Given the description of an element on the screen output the (x, y) to click on. 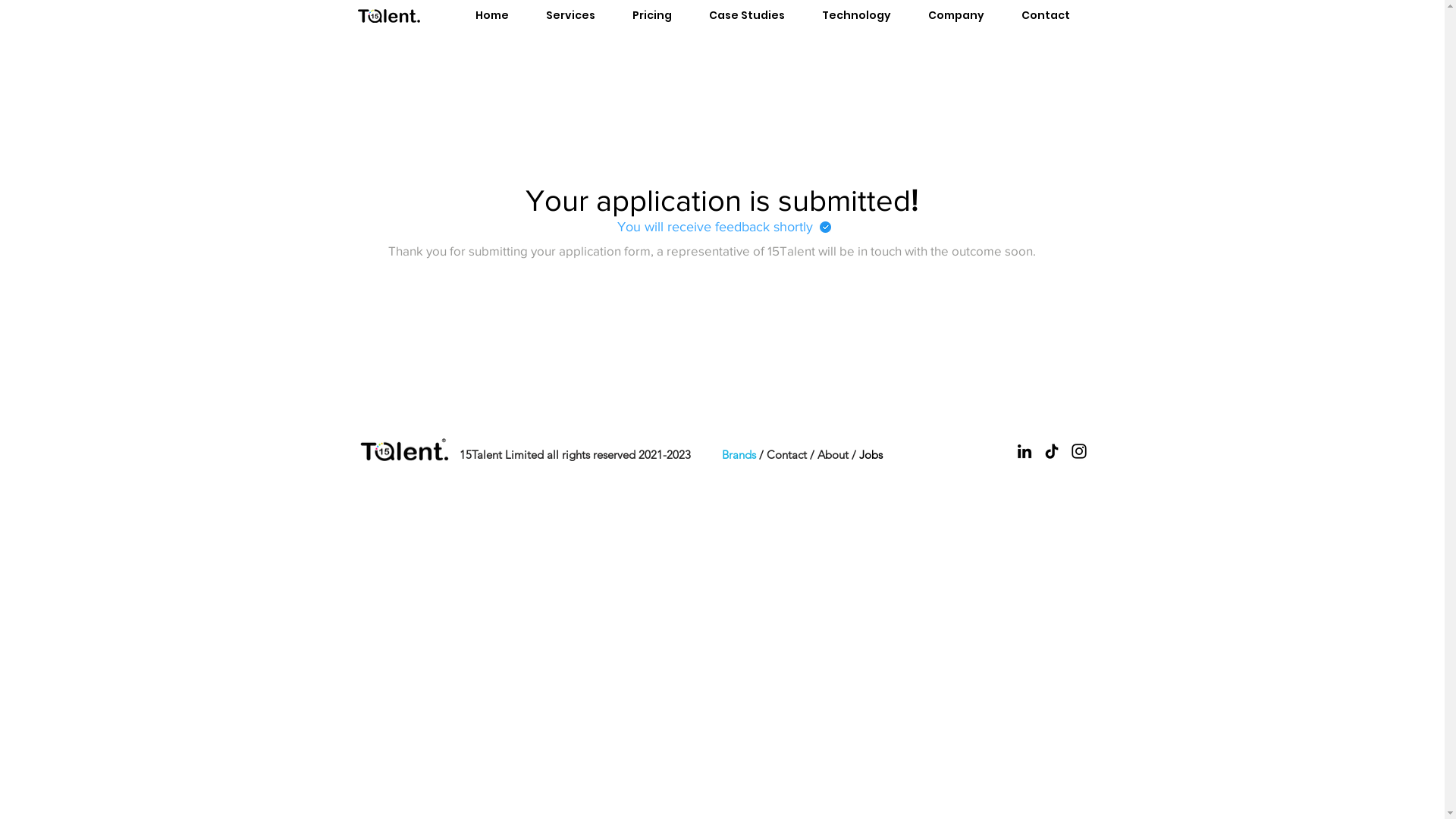
Services Element type: text (570, 15)
About Element type: text (834, 454)
Case Studies Element type: text (746, 15)
Contact Element type: text (1045, 15)
Company Element type: text (956, 15)
Contact Element type: text (787, 454)
Pricing Element type: text (652, 15)
Home Element type: text (491, 15)
Brands  Element type: text (740, 454)
Jobs Element type: text (869, 454)
Technology Element type: text (856, 15)
